Given the description of an element on the screen output the (x, y) to click on. 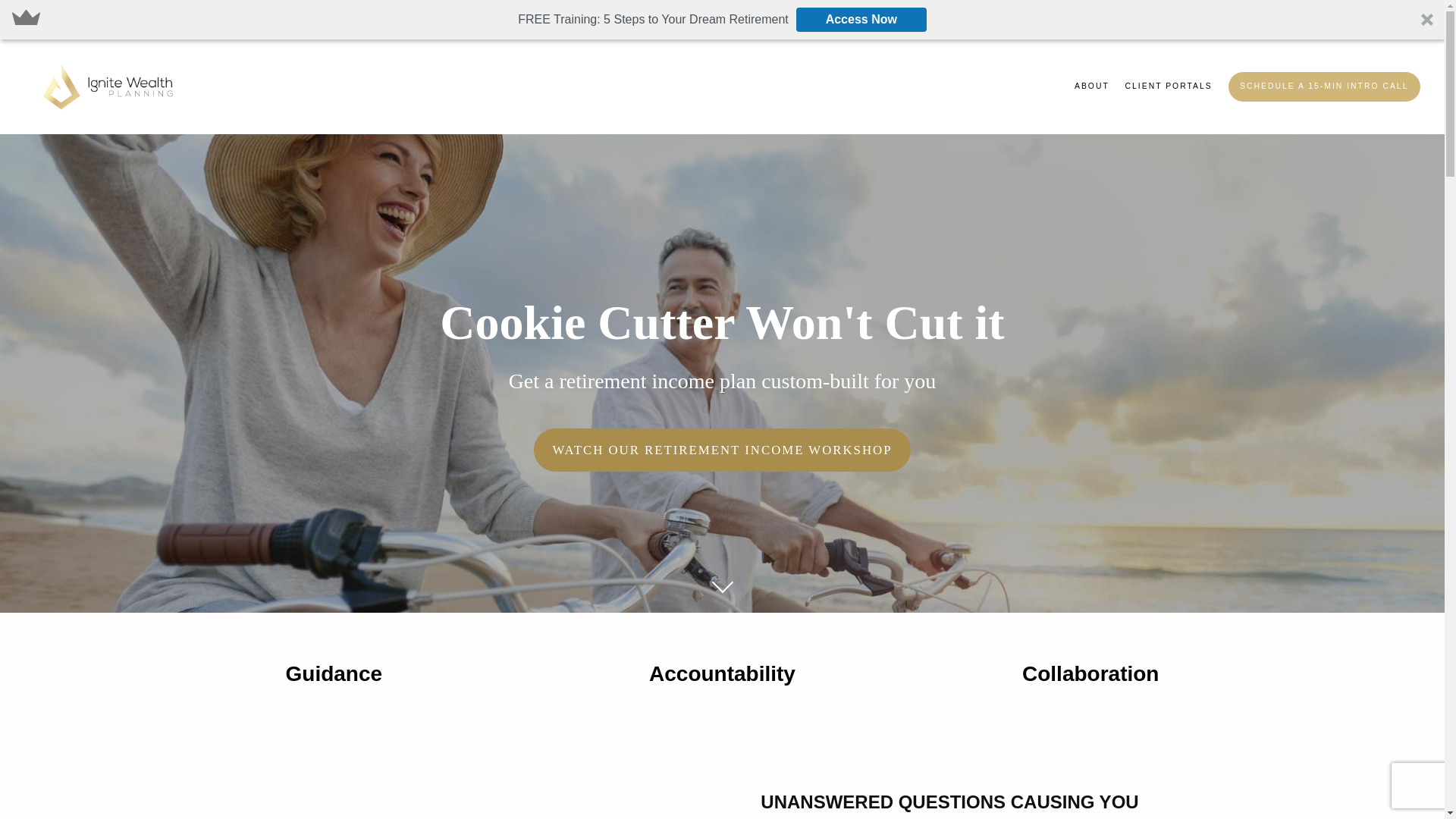
Access Now (861, 19)
SCHEDULE A 15-MIN INTRO CALL (1324, 86)
WATCH OUR RETIREMENT INCOME WORKSHOP (722, 449)
ABOUT (1091, 86)
CLIENT PORTALS (1168, 86)
